Given the description of an element on the screen output the (x, y) to click on. 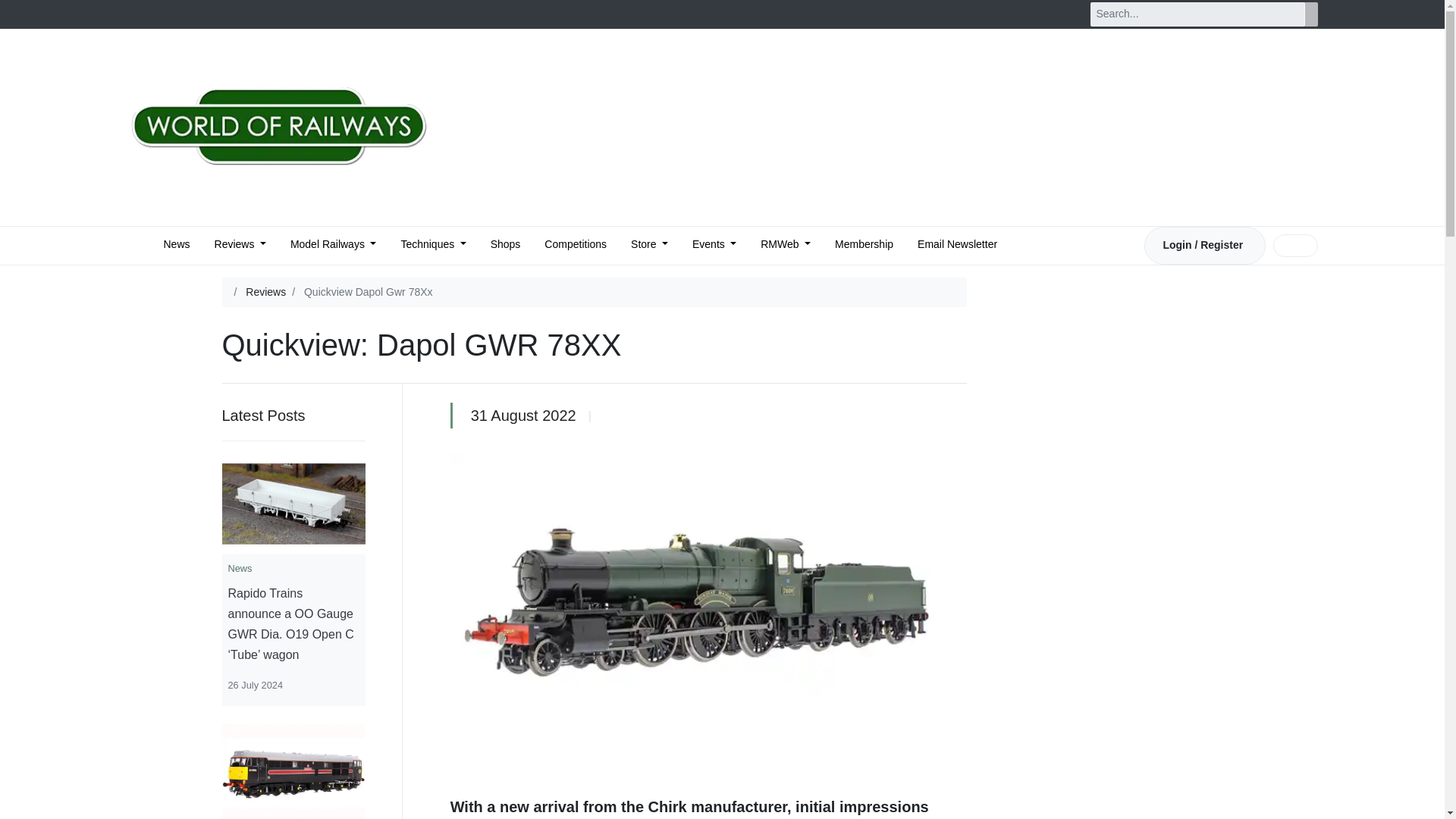
Reviews (240, 245)
Model Railways (332, 245)
News (176, 245)
